Given the description of an element on the screen output the (x, y) to click on. 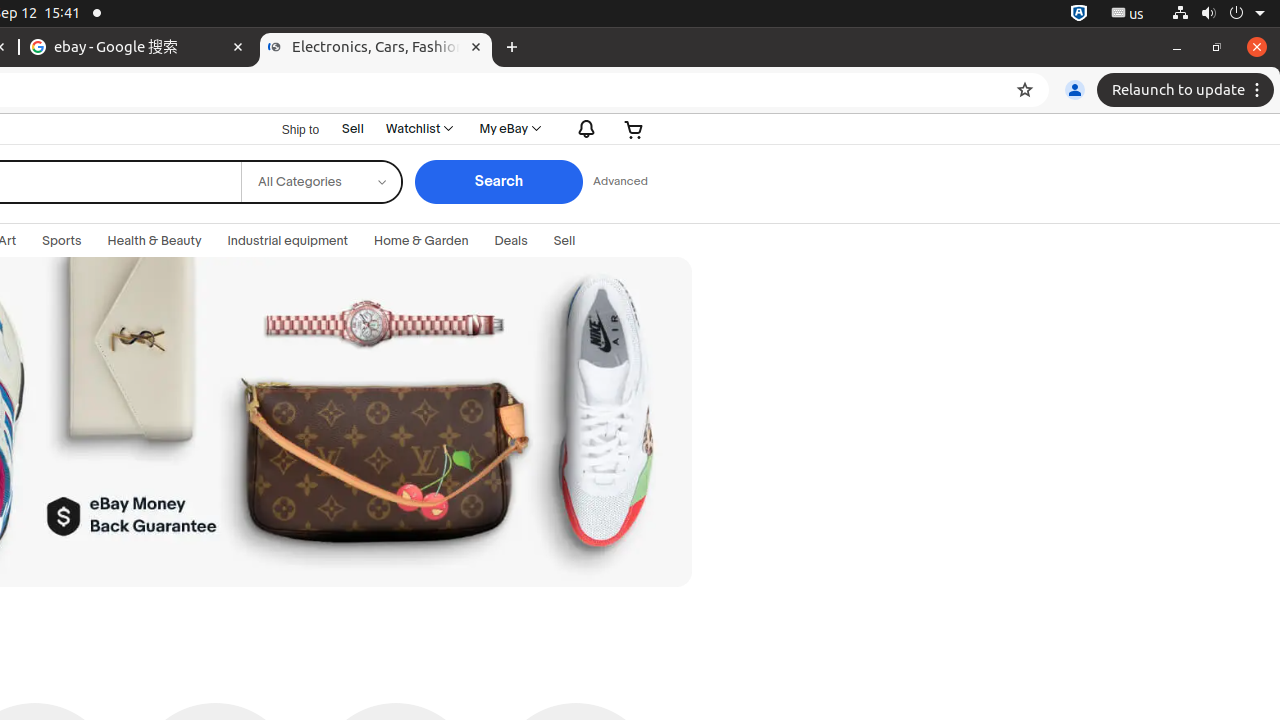
Health & Beauty Element type: link (154, 241)
Sports Element type: link (62, 241)
:1.72/StatusNotifierItem Element type: menu (1079, 13)
Watchlist Element type: link (418, 129)
Ship to Element type: push-button (288, 130)
